Given the description of an element on the screen output the (x, y) to click on. 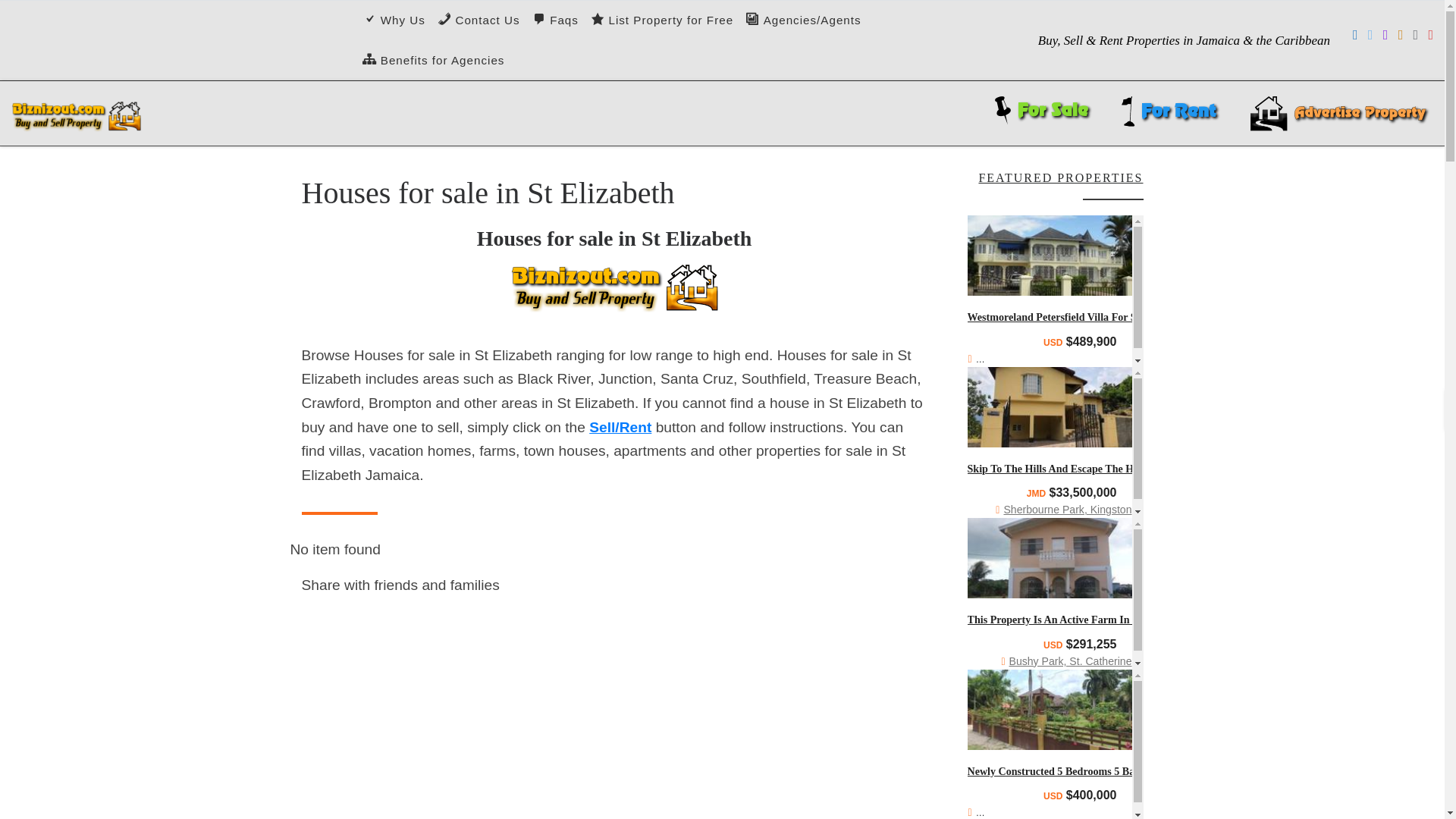
Benefits for Agencies (432, 60)
ADVERTISE PROPERTY FOR FREE (1338, 113)
List Property for Free (662, 20)
Why Us (393, 20)
Faqs (554, 20)
Contact Us (477, 20)
Westmoreland, Petersfield, Jamaica (1061, 358)
Westmoreland Petersfield Villa for sale (1059, 317)
Westmoreland Petersfield Villa For Sale (1059, 317)
Westmoreland Petersfield Villa for sale (1050, 255)
